Given the description of an element on the screen output the (x, y) to click on. 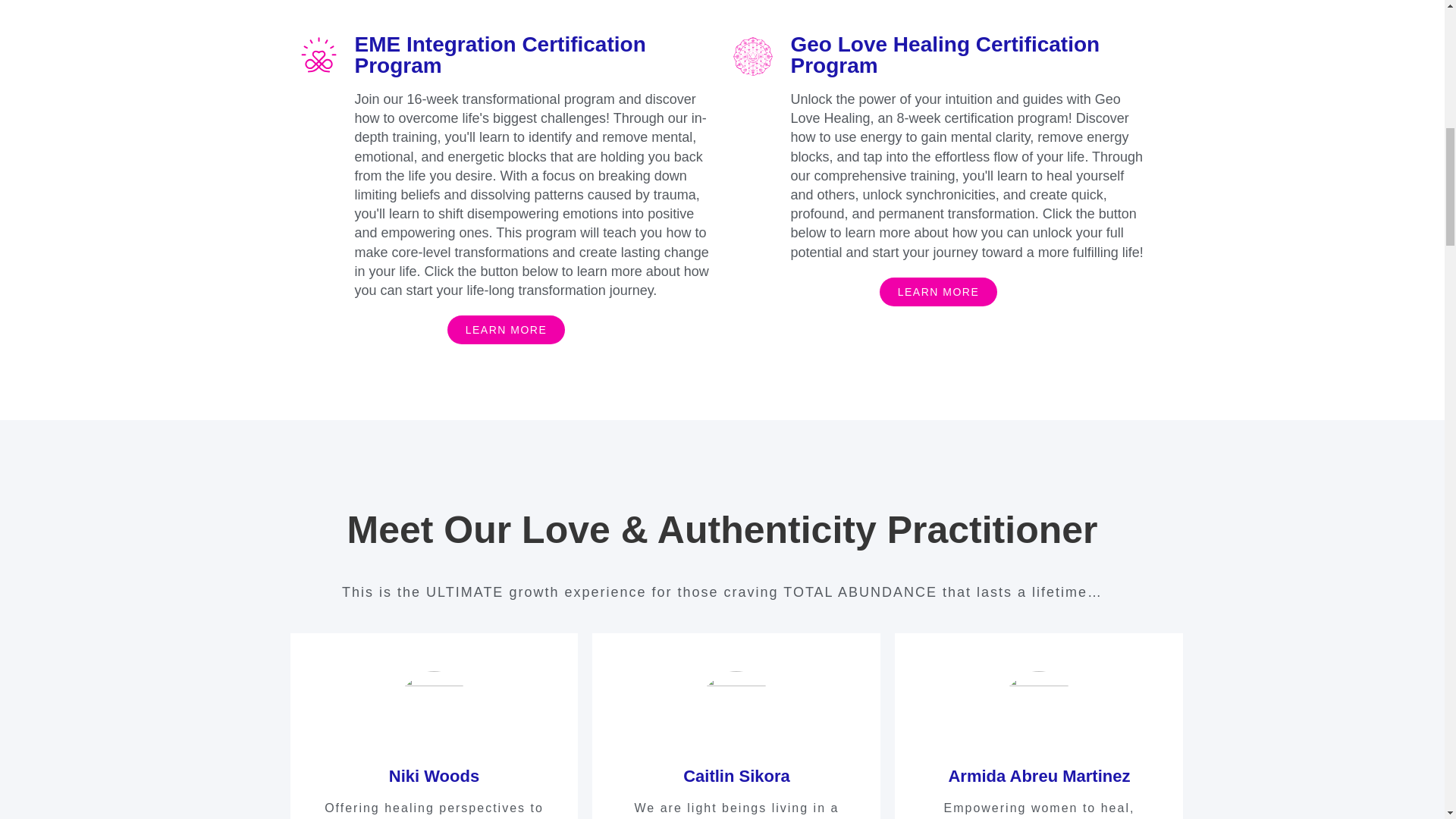
LEARN MORE (938, 291)
LEARN MORE (506, 329)
